Given the description of an element on the screen output the (x, y) to click on. 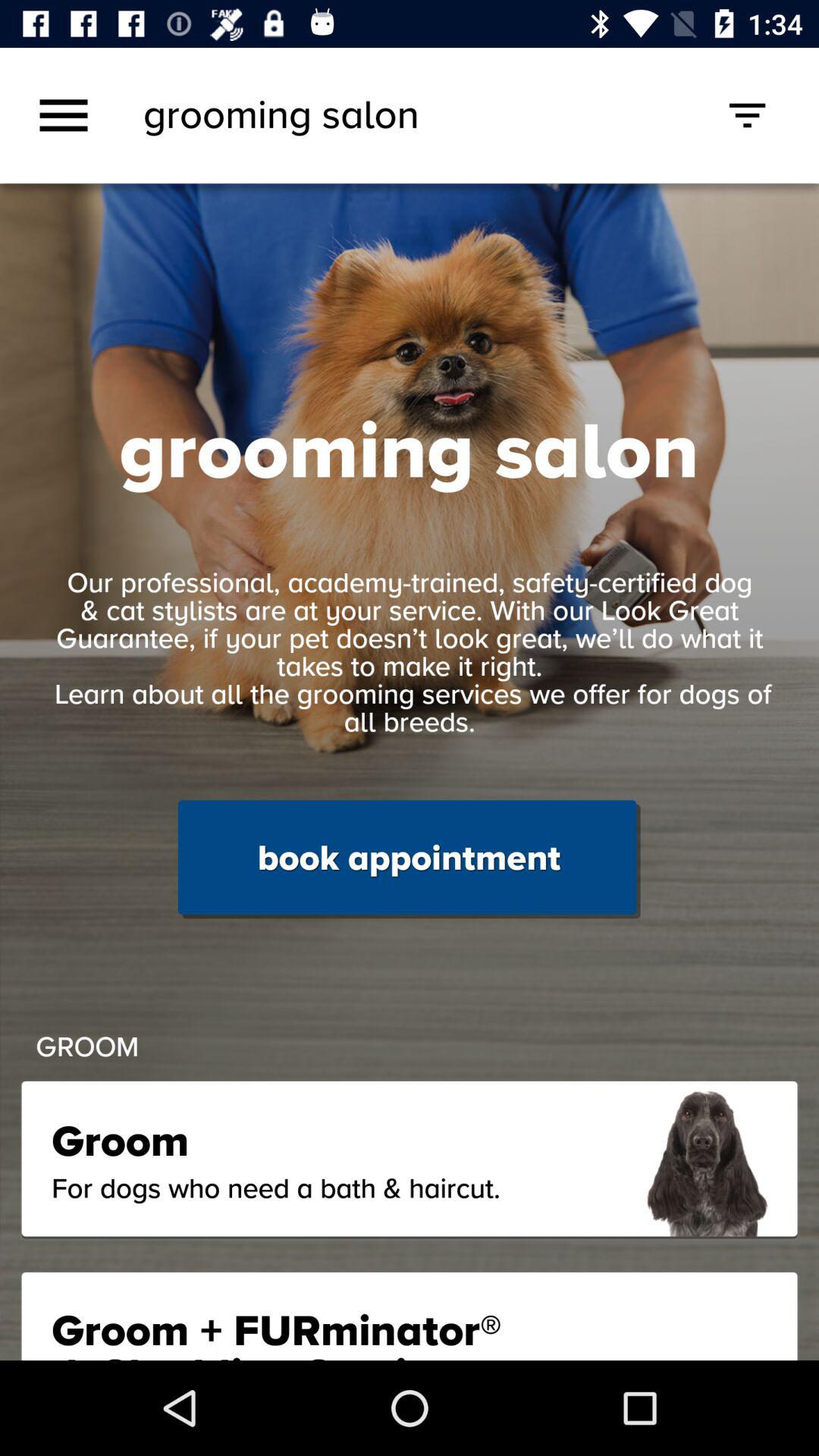
jump until book appointment item (409, 859)
